Given the description of an element on the screen output the (x, y) to click on. 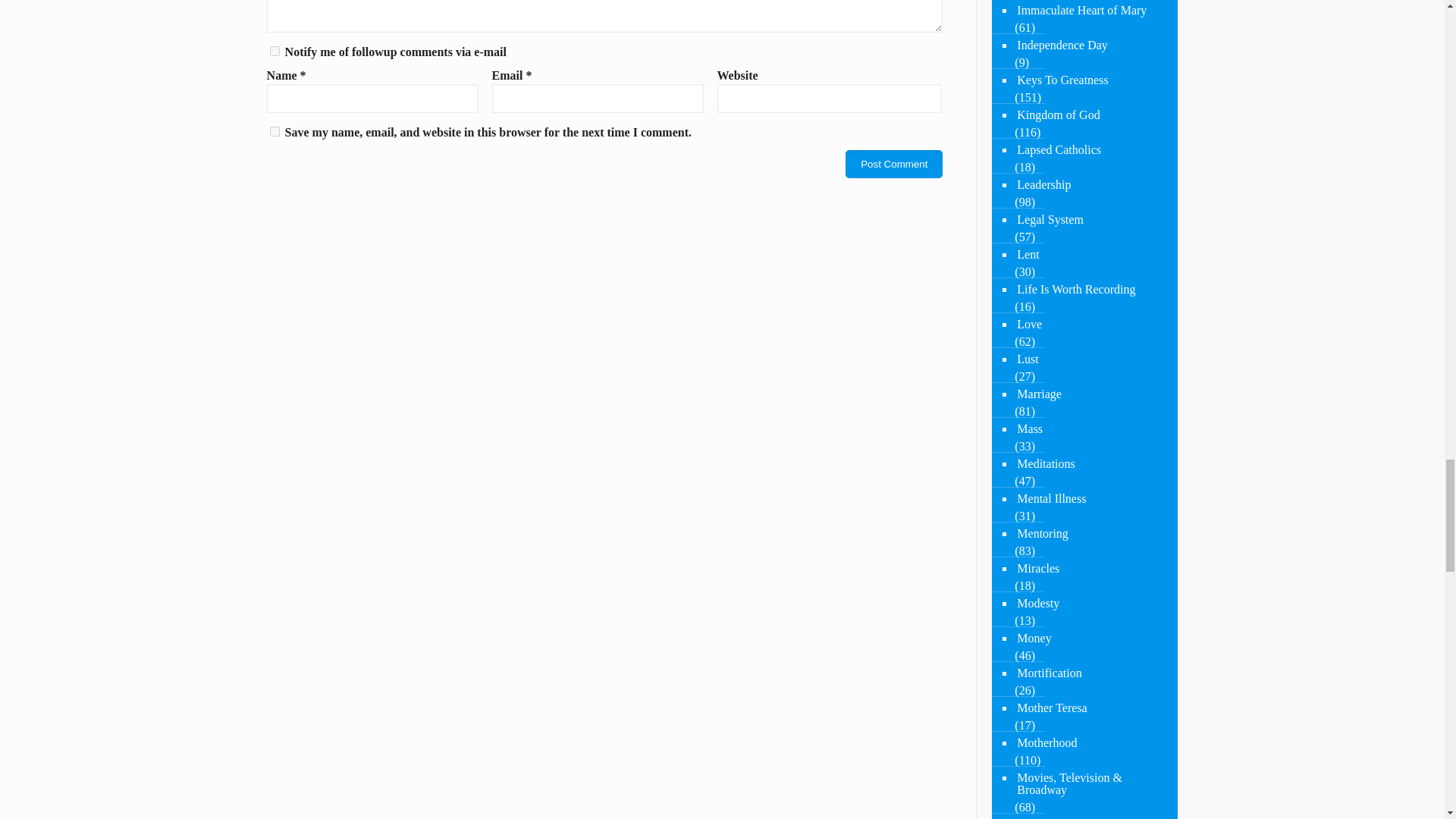
Post Comment (893, 163)
yes (274, 131)
subscribe (274, 50)
